Given the description of an element on the screen output the (x, y) to click on. 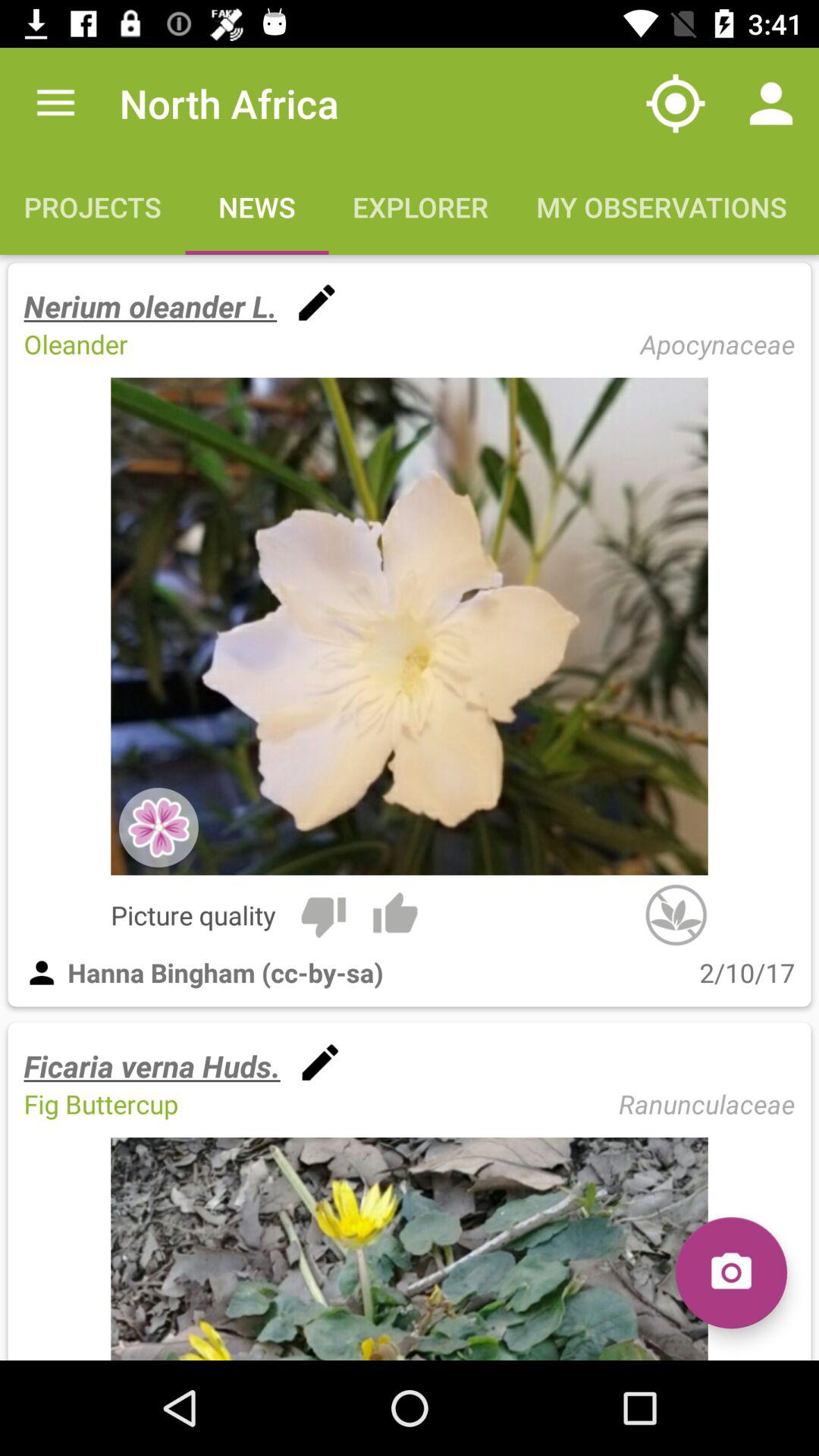
click item above the oleander icon (149, 306)
